Given the description of an element on the screen output the (x, y) to click on. 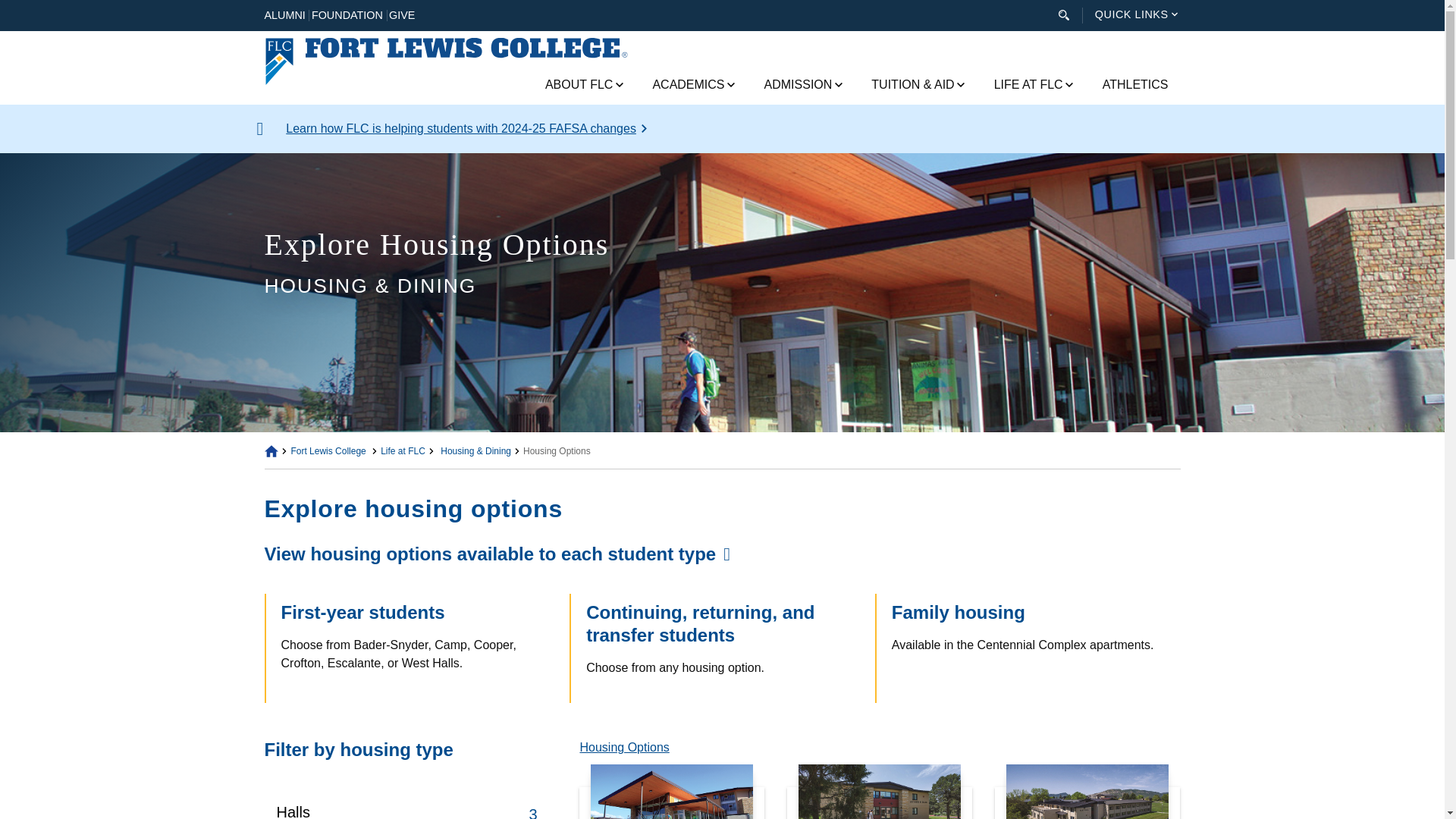
GIVE (401, 14)
Halls (292, 811)
FOUNDATION (346, 14)
Bader-Snyder Complex (878, 791)
ACADEMICS (689, 84)
QUICK LINKS (1131, 14)
ABOUT FLC (580, 84)
Animas Hall (671, 791)
SEARCH (1064, 15)
ALUMNI (283, 14)
